Given the description of an element on the screen output the (x, y) to click on. 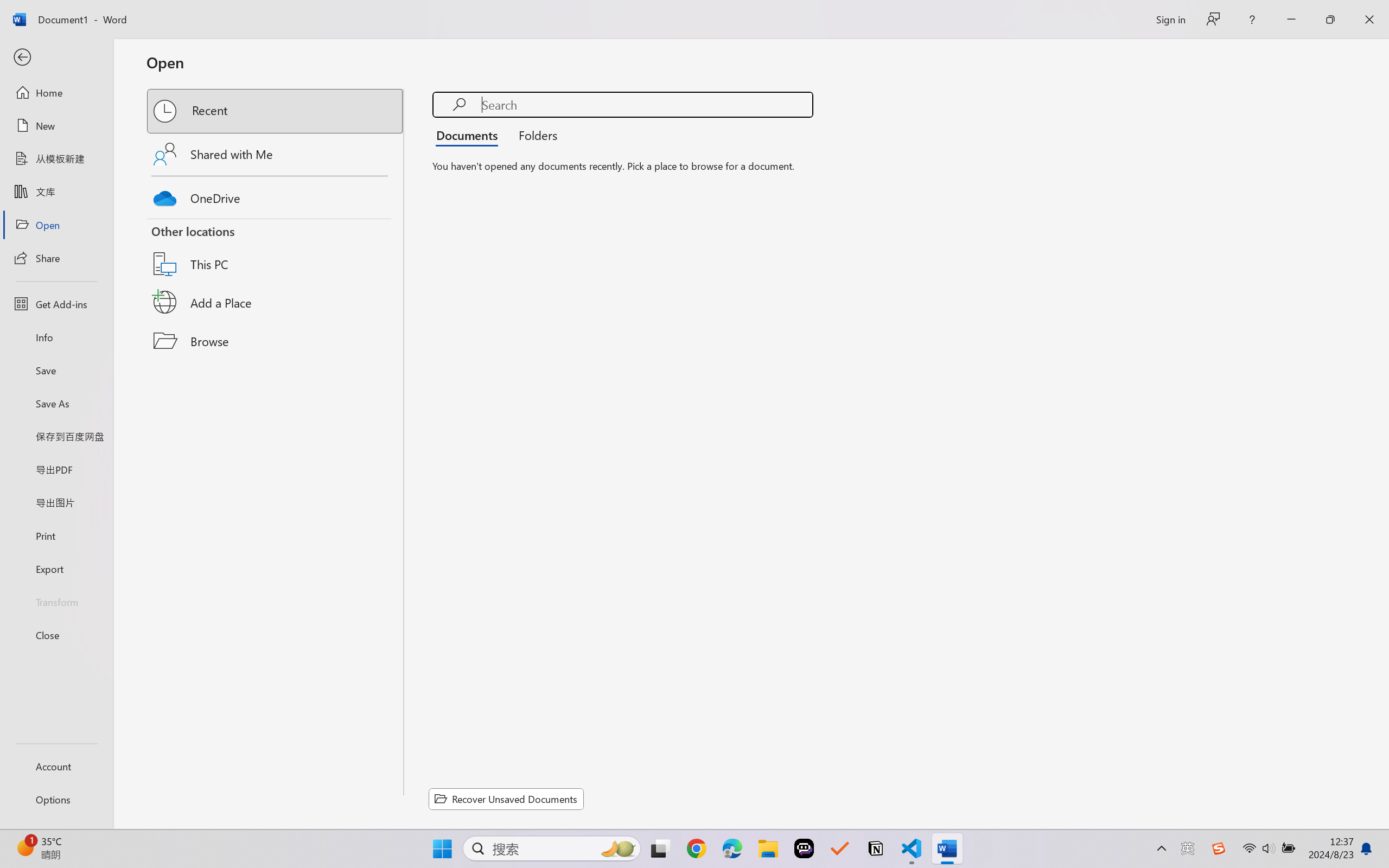
Export (56, 568)
OneDrive (275, 195)
Recent (275, 110)
Add a Place (275, 302)
